Given the description of an element on the screen output the (x, y) to click on. 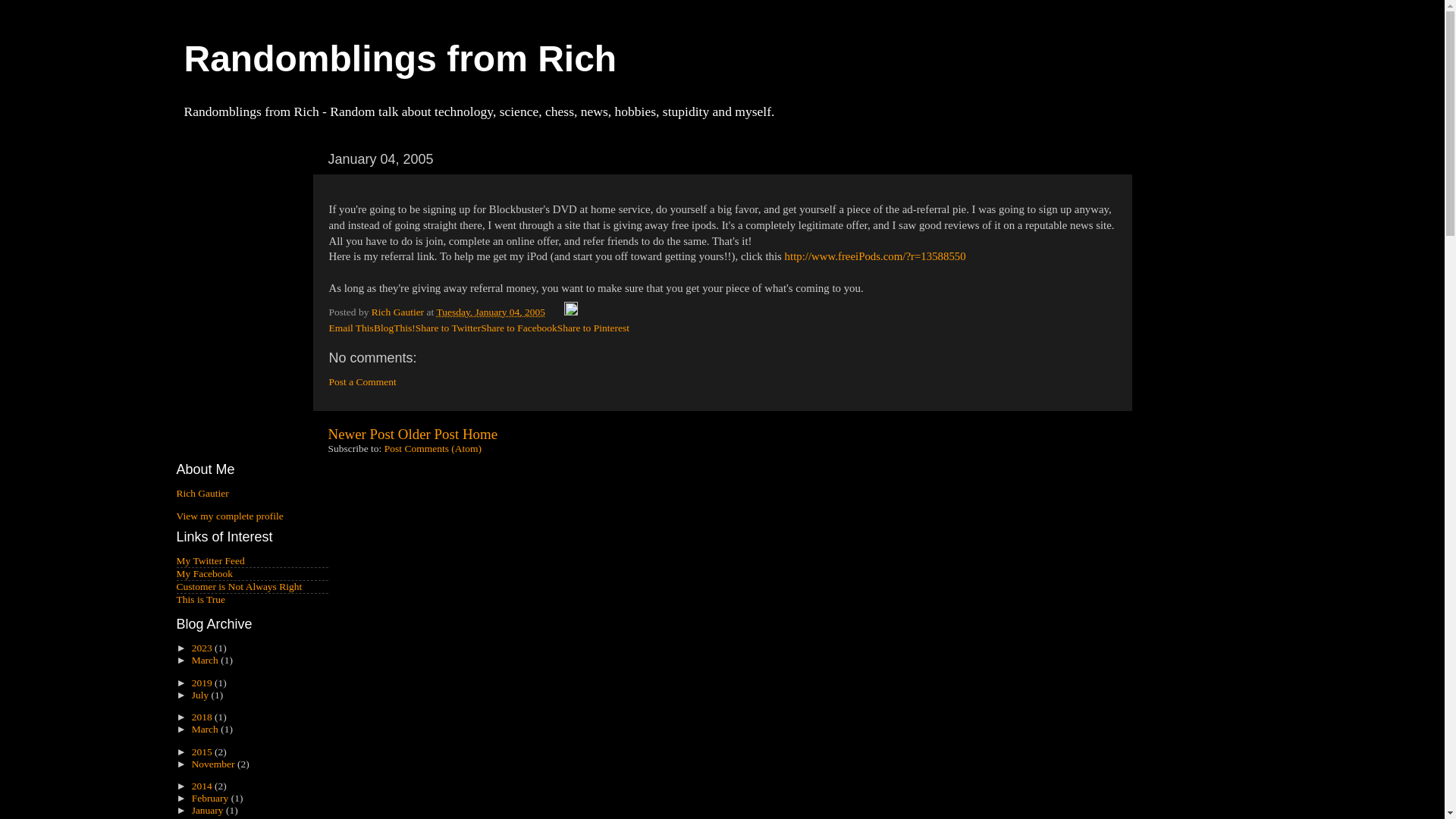
BlogThis! (394, 327)
Email This (351, 327)
Share to Pinterest (592, 327)
November (214, 763)
2023 (203, 647)
2015 (203, 751)
Older Post (427, 433)
Share to Facebook (518, 327)
Rich Gautier (398, 311)
Older Post (427, 433)
Email Post (555, 311)
Rich Gautier (202, 492)
My Facebook (204, 573)
permanent link (489, 311)
Share to Facebook (518, 327)
